Given the description of an element on the screen output the (x, y) to click on. 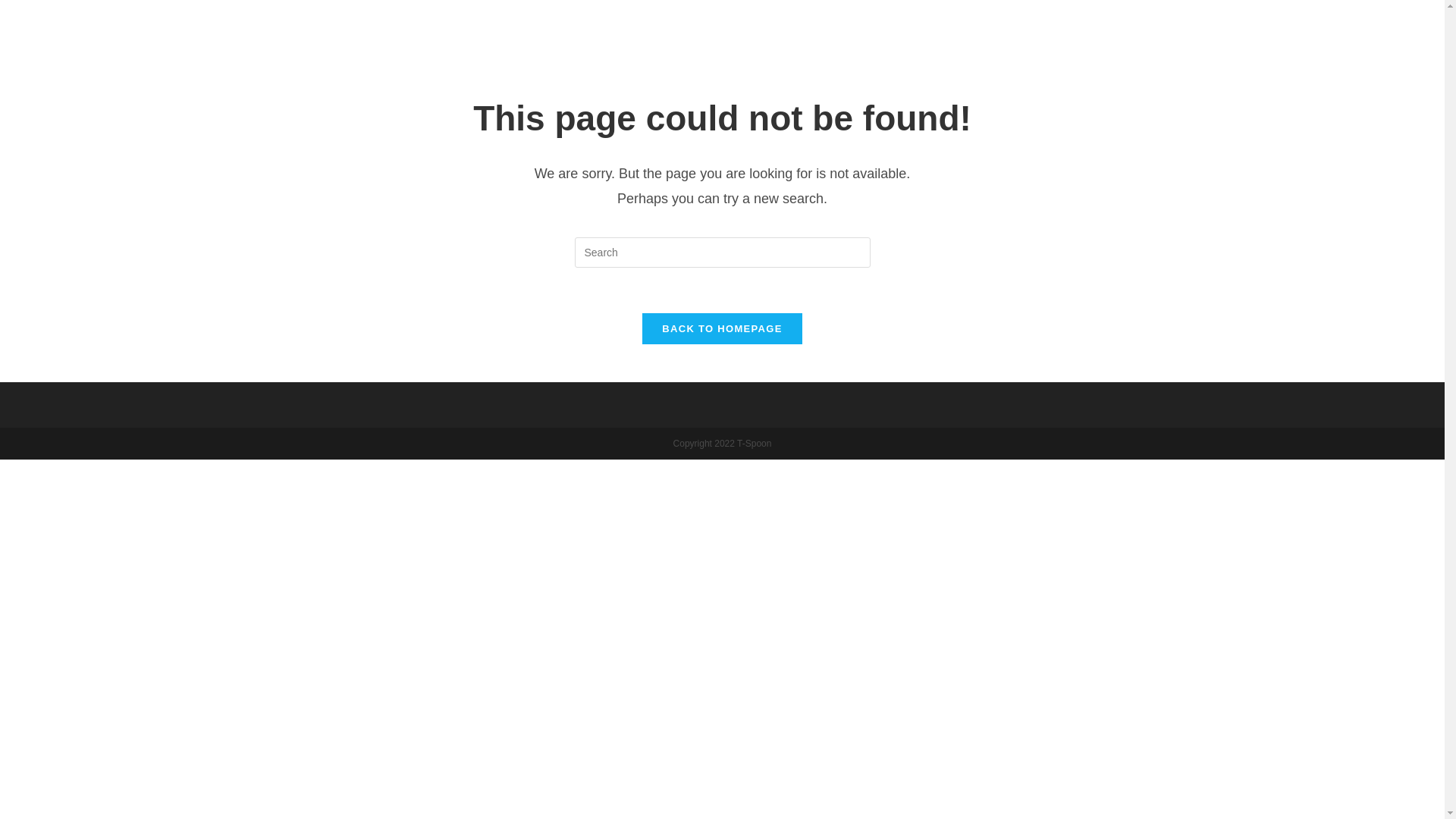
BACK TO HOMEPAGE (722, 327)
